Given the description of an element on the screen output the (x, y) to click on. 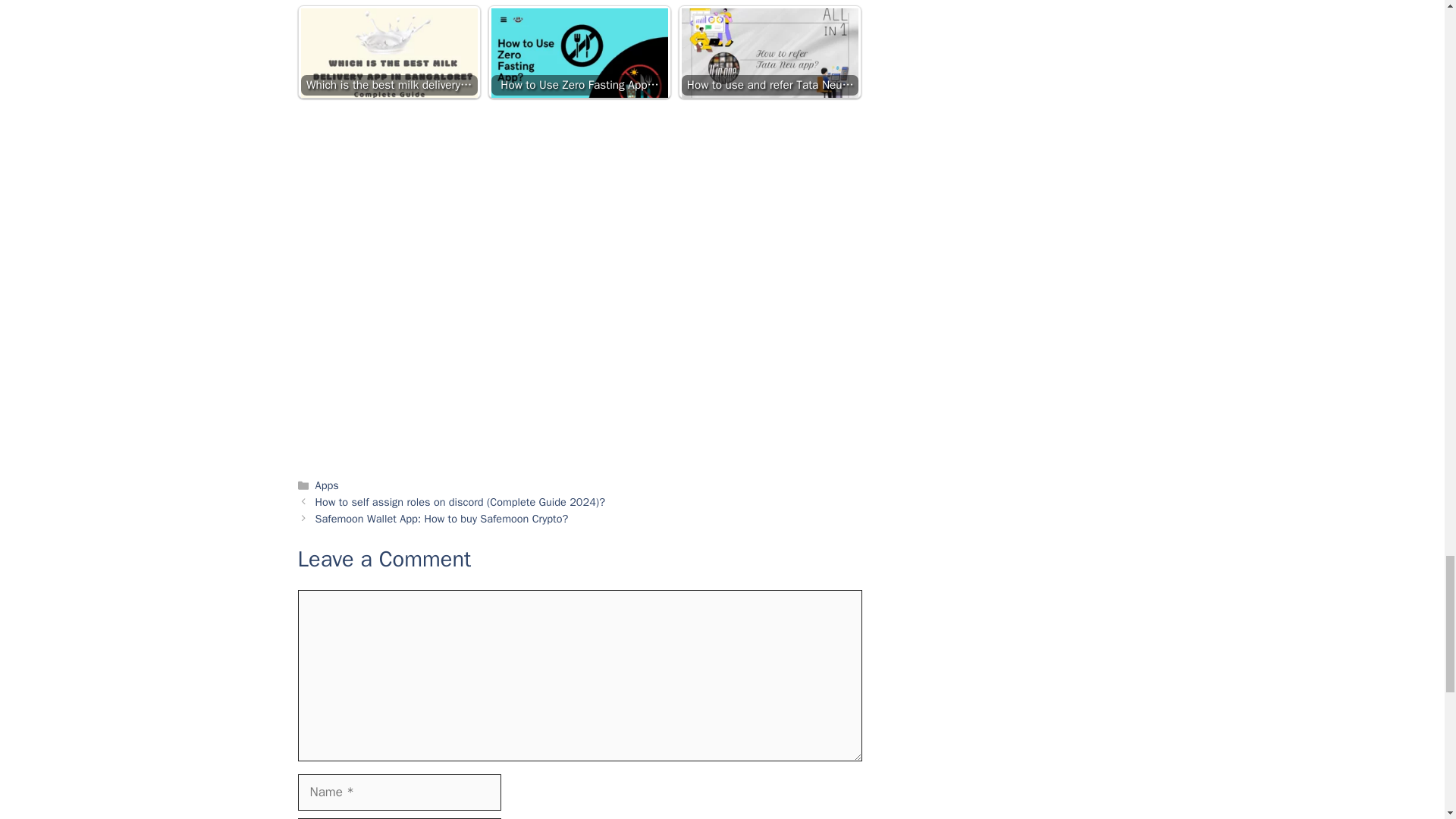
Exploring the World of Betting and Gaming with Crickex App (770, 42)
